Given the description of an element on the screen output the (x, y) to click on. 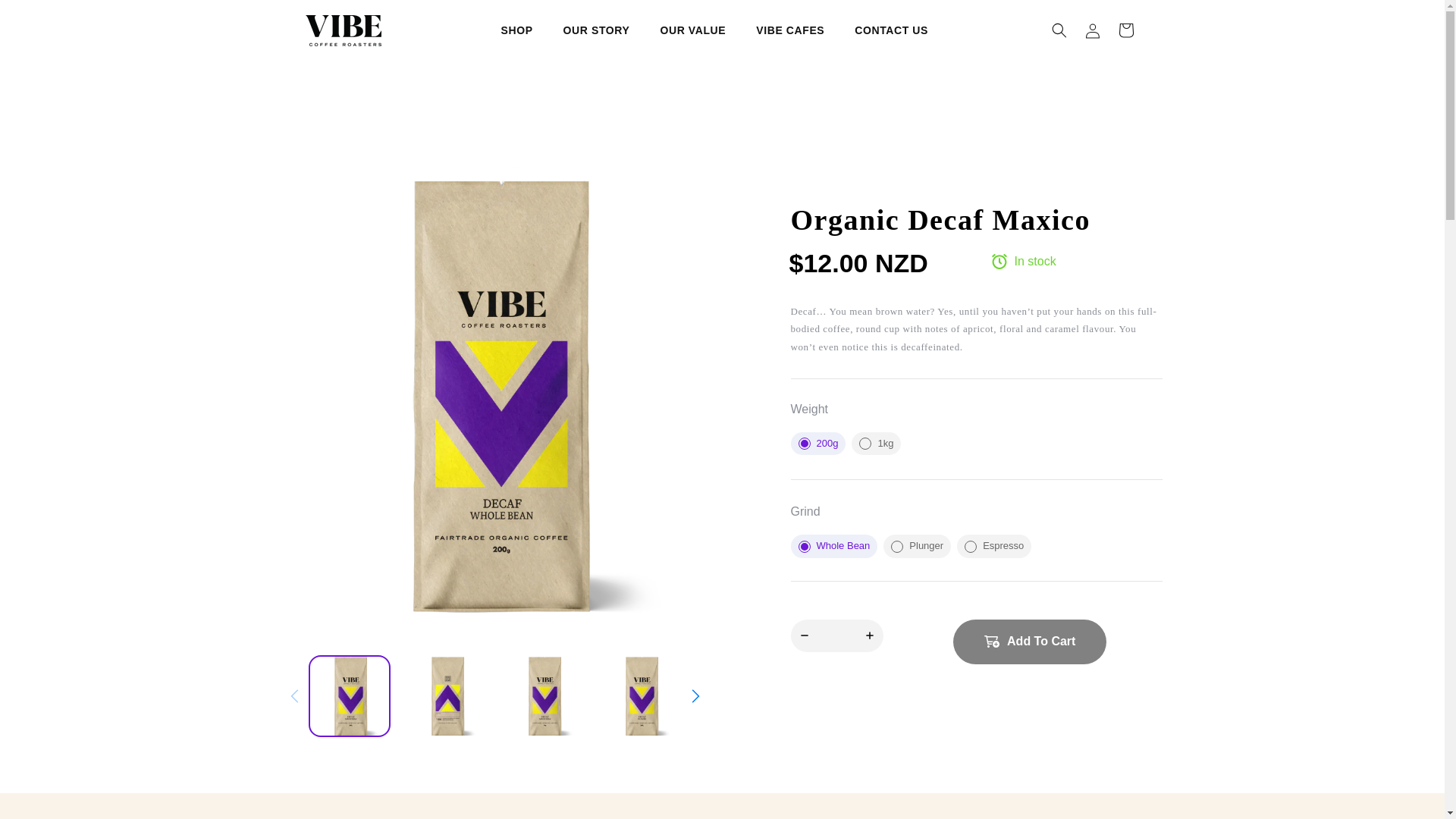
Add To Cart (1029, 641)
Organic Decaf Maxico (975, 219)
VIBE CAFES (789, 29)
Log in (1091, 29)
Skip to content (47, 18)
Cart (1124, 29)
CONTACT US (891, 29)
SHOP (516, 29)
OUR STORY (596, 29)
OUR VALUE (692, 29)
